Given the description of an element on the screen output the (x, y) to click on. 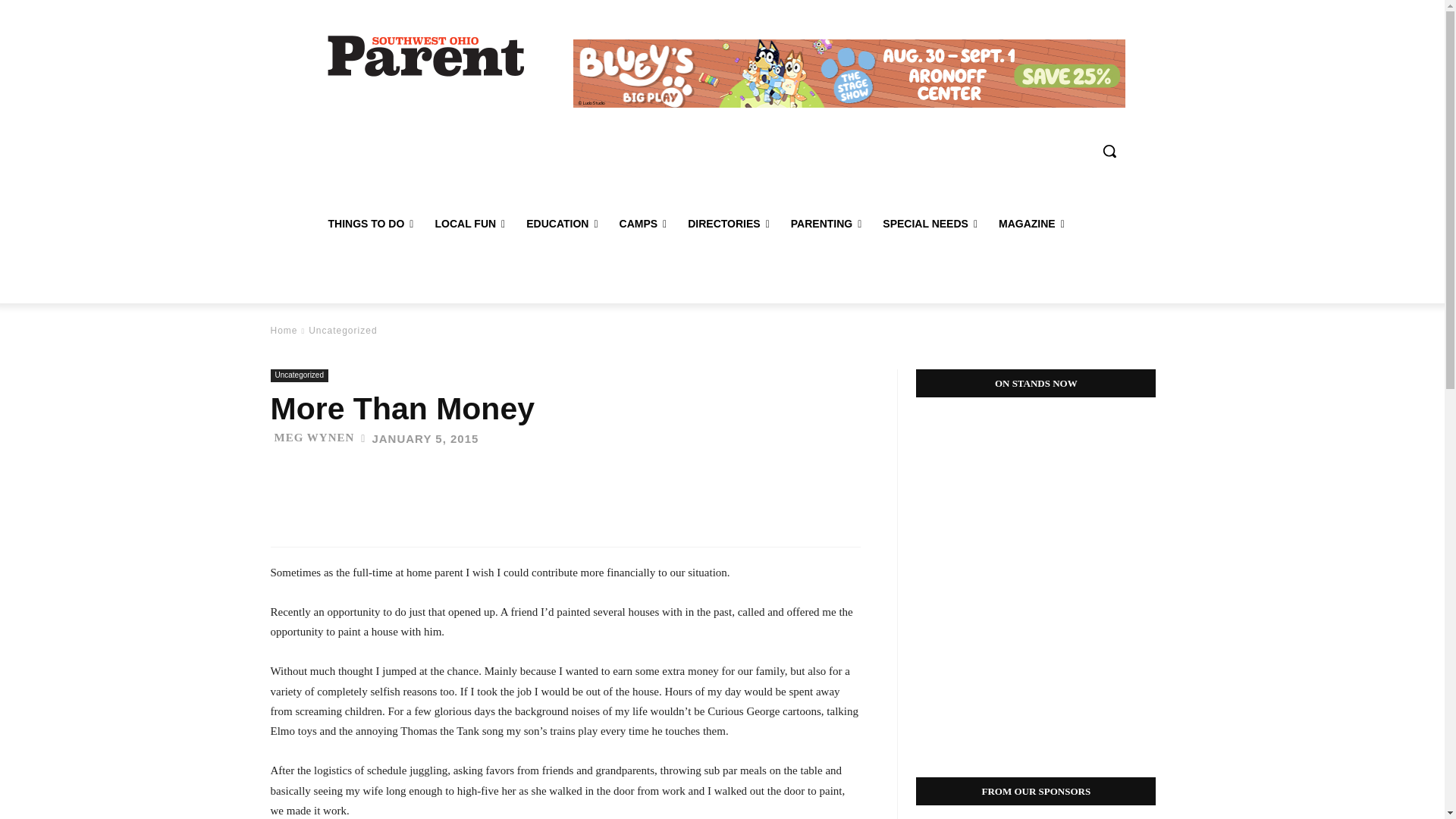
Southwest Ohio Parent Magazine (426, 55)
Southwest Ohio Parent Magazine (425, 55)
View all posts in Uncategorized (342, 330)
